Given the description of an element on the screen output the (x, y) to click on. 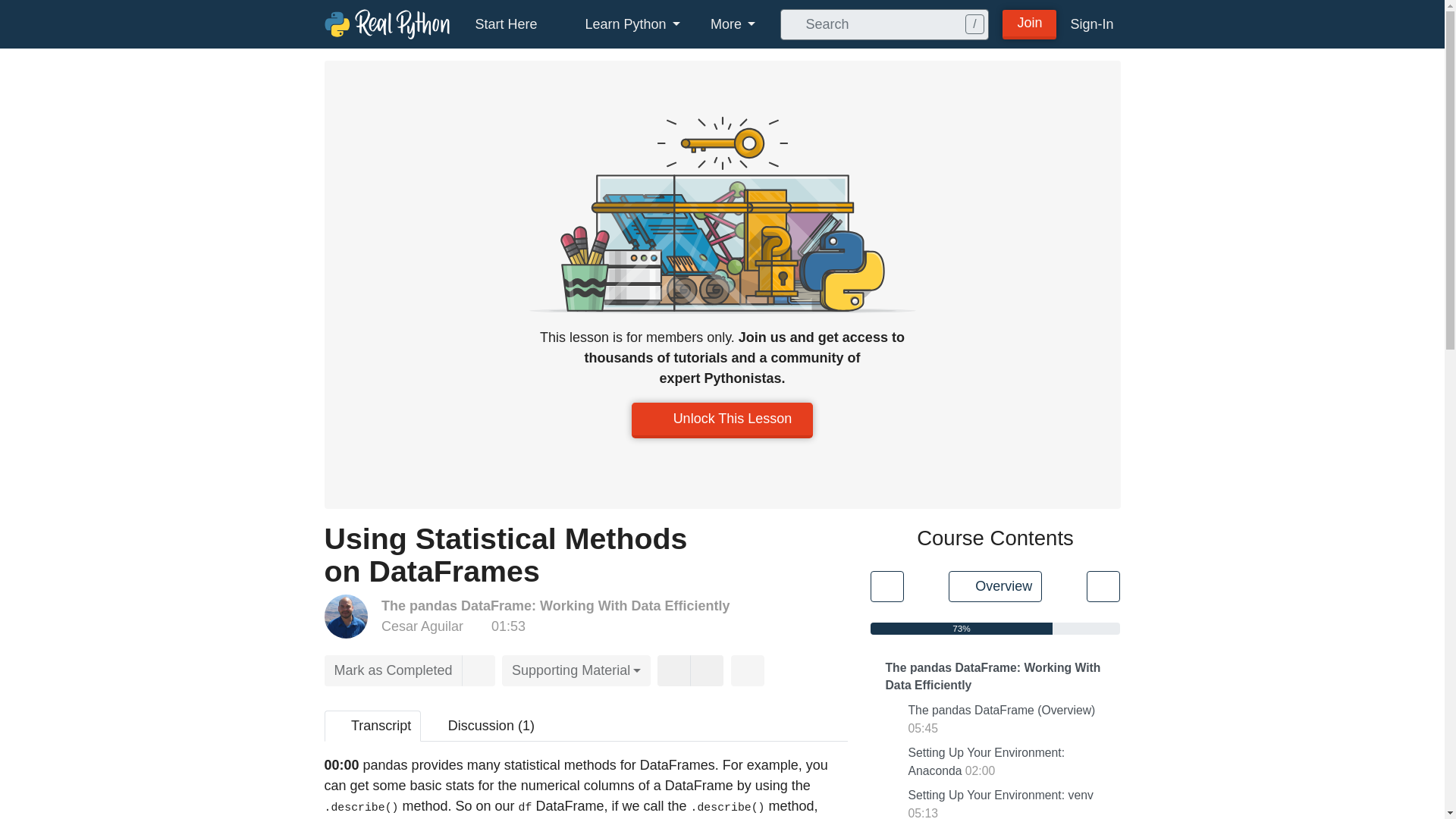
Liked it (674, 670)
Learn Python (624, 23)
Search (790, 23)
Unlock This Lesson (722, 420)
Transcript (373, 726)
Mark as Completed (393, 670)
Supporting Material (576, 670)
Start Here (505, 23)
Mark lesson as completed (393, 670)
Disliked it (706, 670)
Join (1030, 23)
Add bookmark (478, 670)
Share (747, 670)
More (732, 23)
Course progress (961, 628)
